Given the description of an element on the screen output the (x, y) to click on. 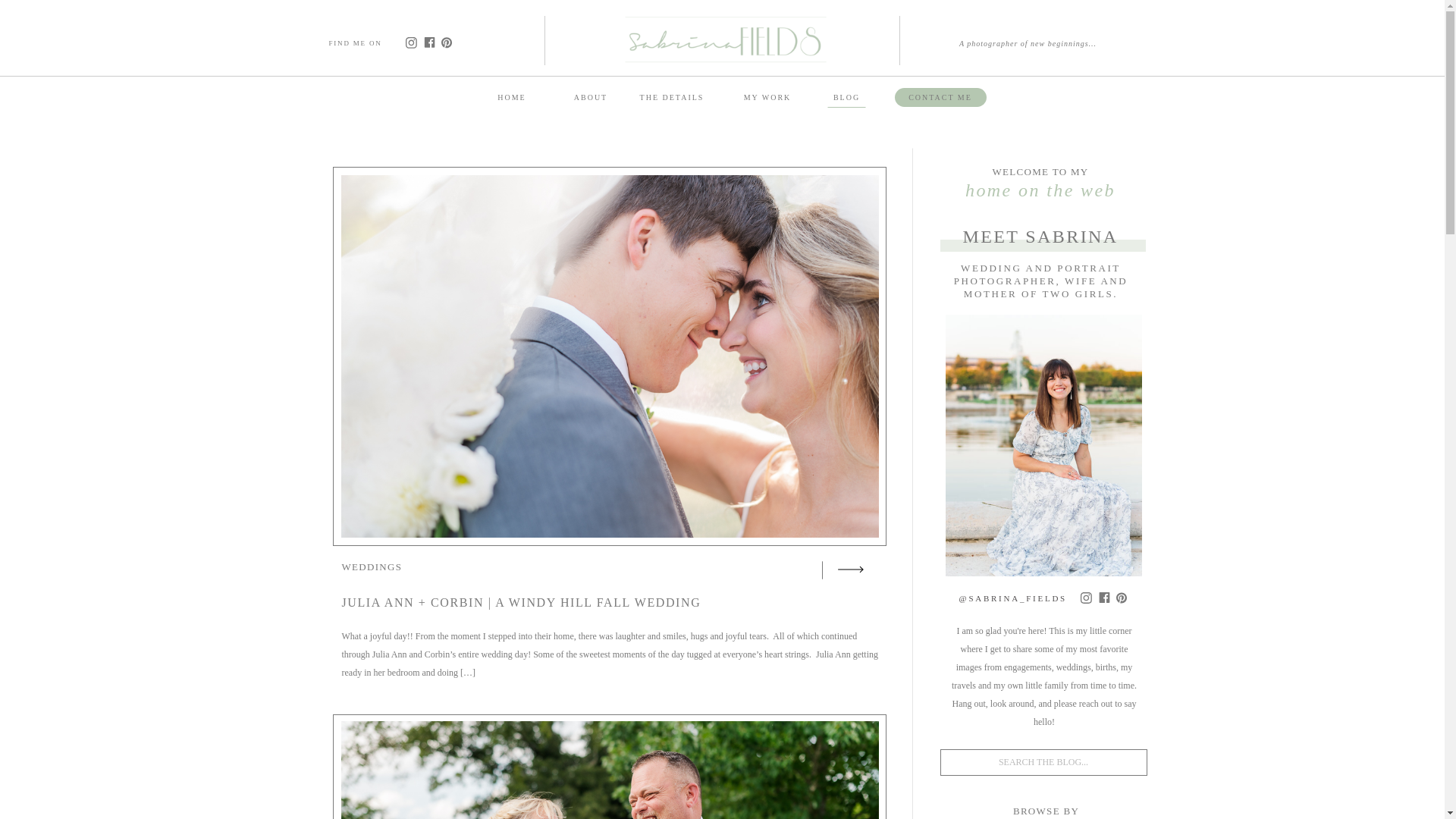
Facebook Copy-color Created with Sketch. (428, 42)
Instagram-color Created with Sketch. (1086, 597)
WEDDINGS (370, 566)
HOME (511, 96)
Instagram-color Created with Sketch. (410, 42)
Facebook Copy-color Created with Sketch. (429, 42)
Instagram-color Created with Sketch. (410, 42)
Instagram-color Created with Sketch. (1086, 597)
Facebook Copy-color Created with Sketch. (1103, 597)
CONTACT ME (941, 97)
